Given the description of an element on the screen output the (x, y) to click on. 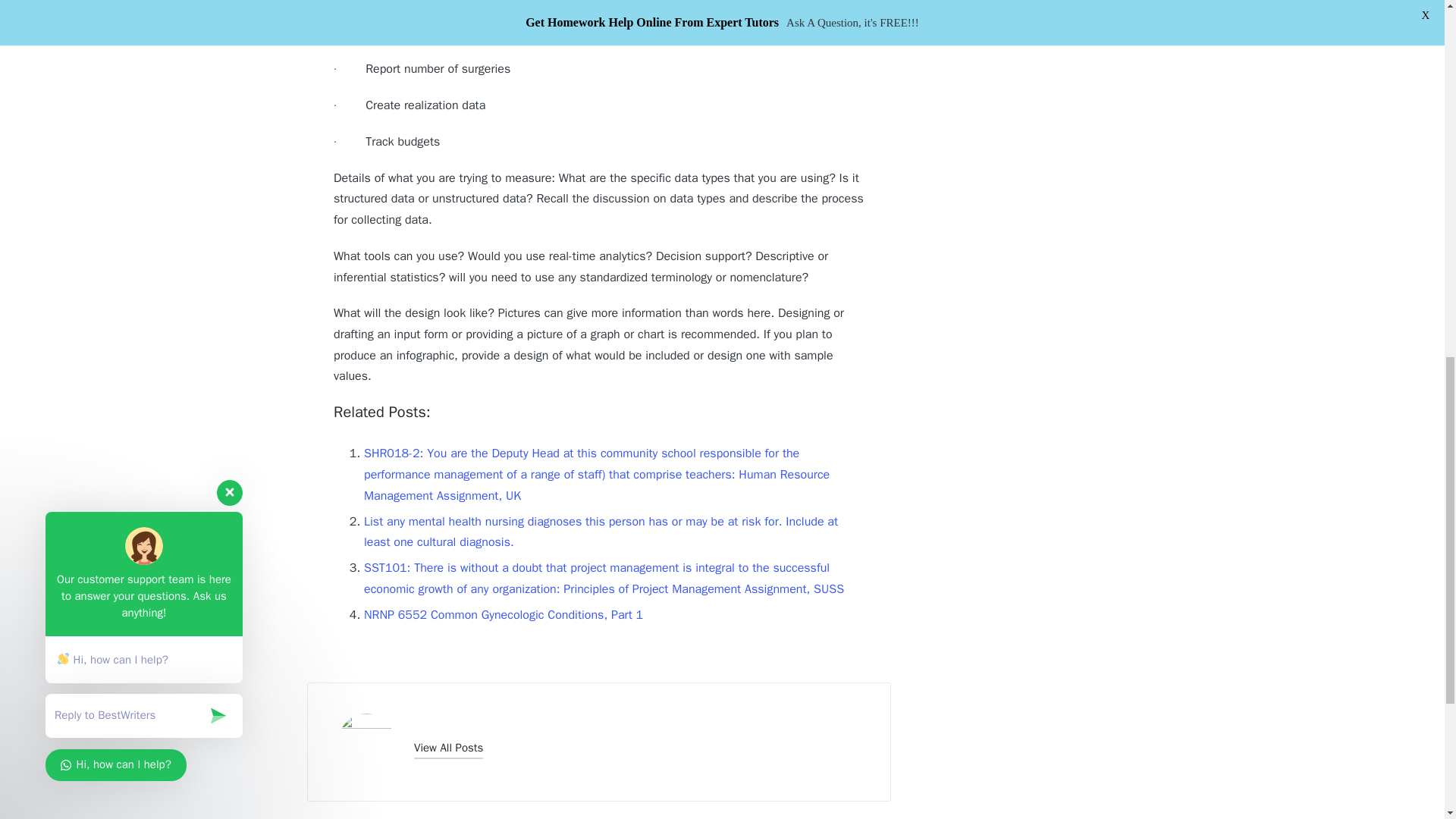
NRNP 6552 Common Gynecologic Conditions, Part 1 (503, 614)
NRNP 6552 Common Gynecologic Conditions, Part 1 (503, 614)
View All Posts (448, 747)
